Given the description of an element on the screen output the (x, y) to click on. 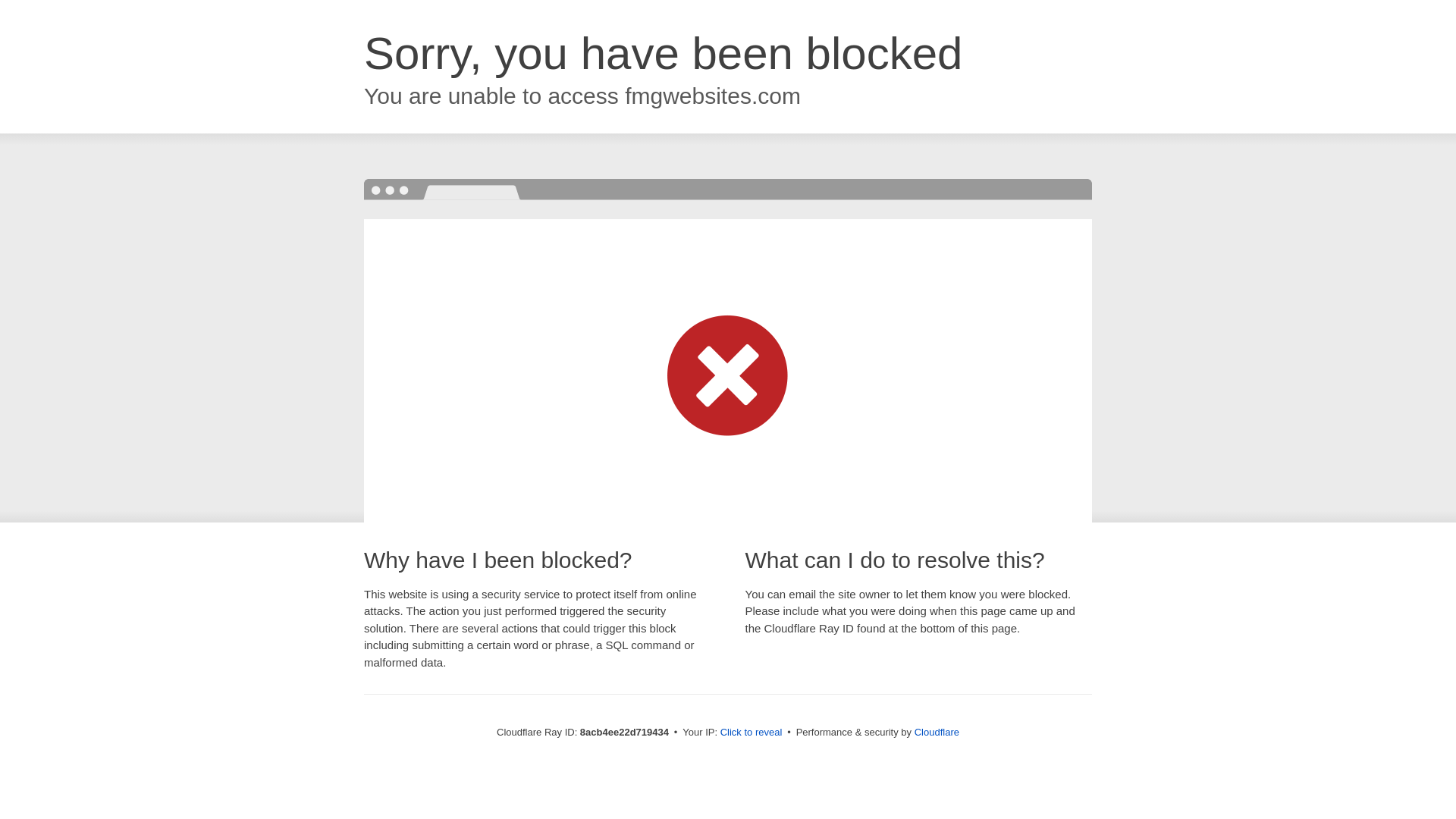
Click to reveal (751, 732)
Cloudflare (936, 731)
